Given the description of an element on the screen output the (x, y) to click on. 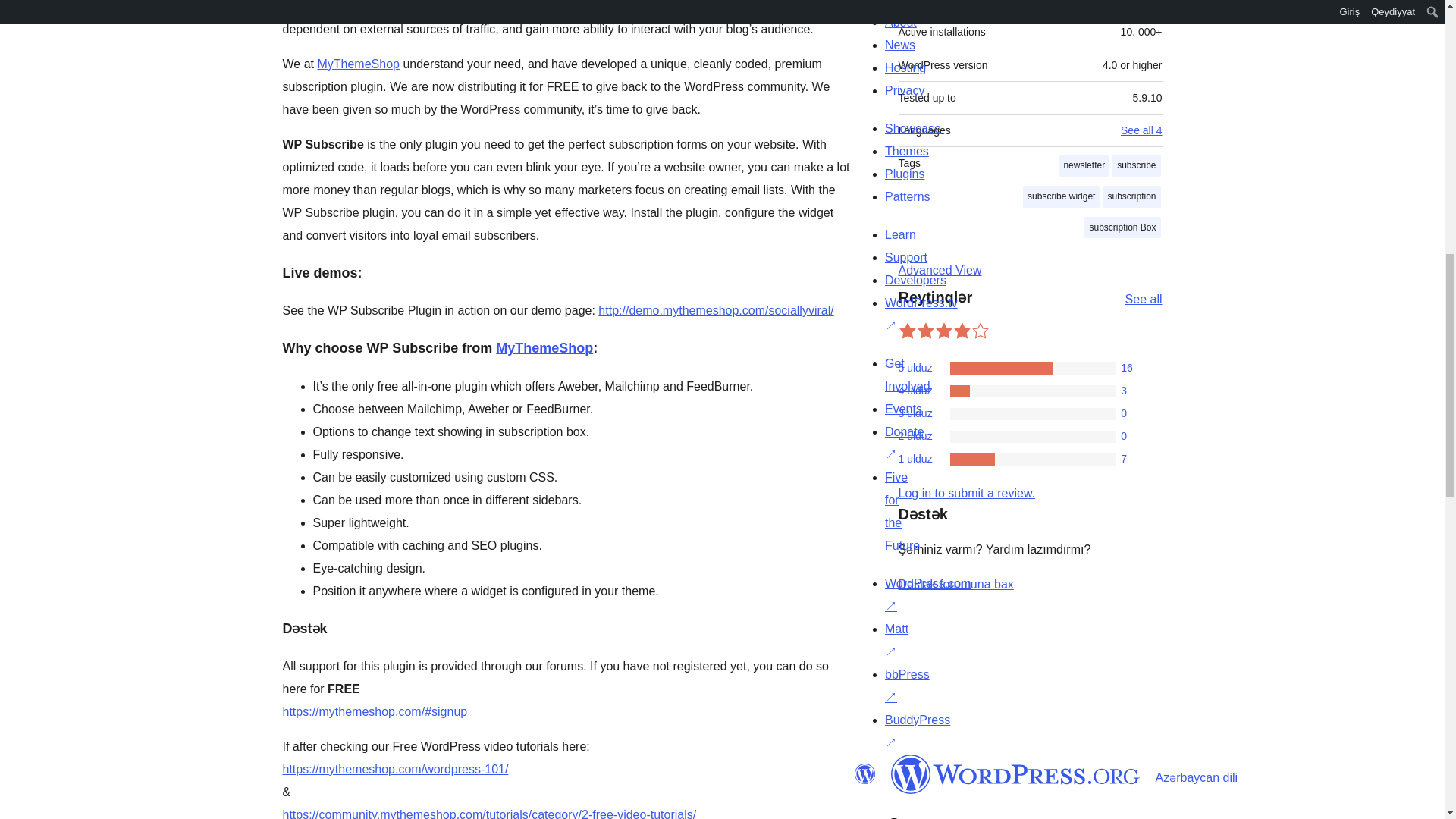
WordPress.org (1014, 773)
MyThemeShop (357, 63)
Log in to WordPress.org (966, 492)
WordPress.org (864, 773)
